Given the description of an element on the screen output the (x, y) to click on. 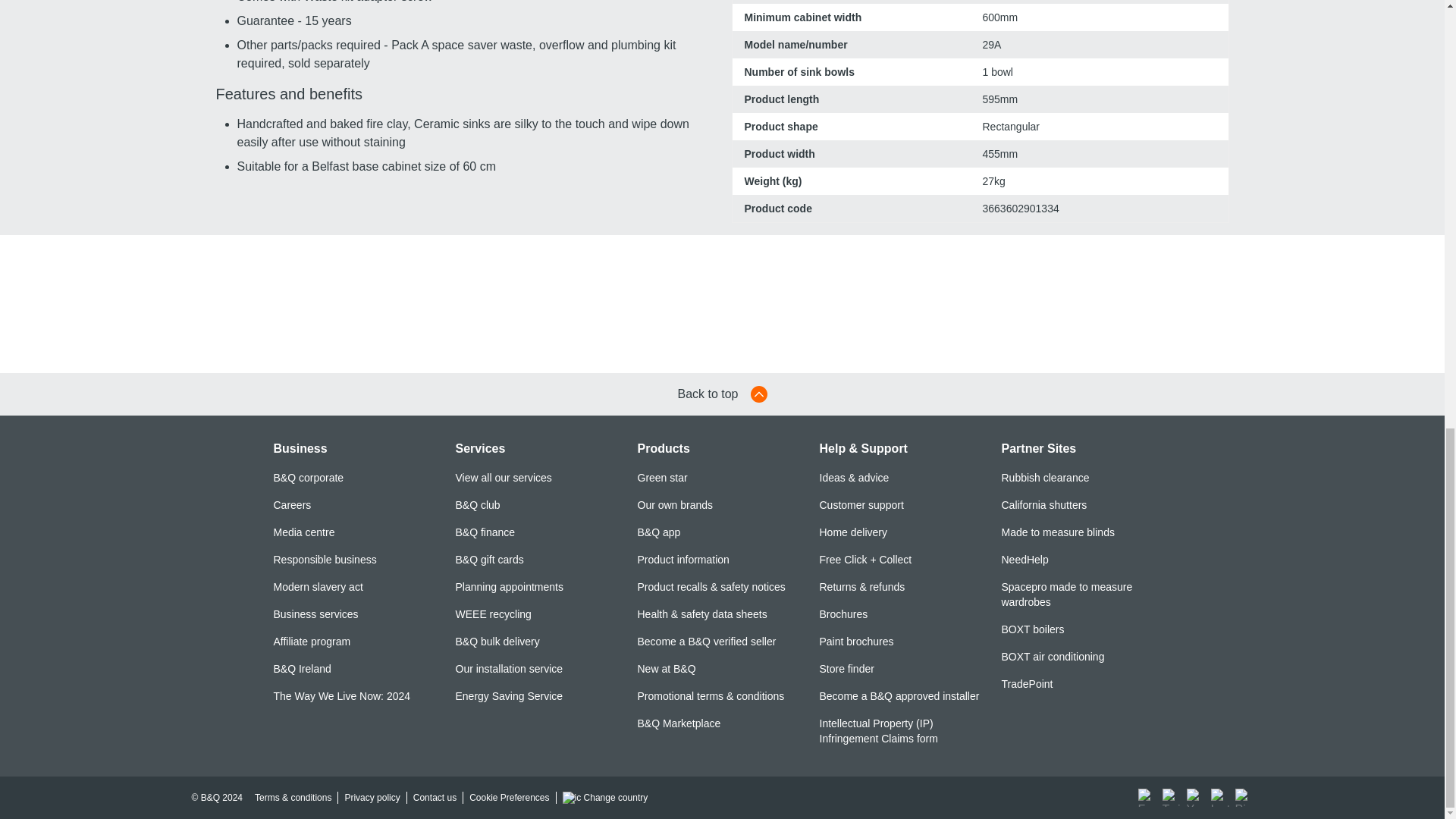
Pinterest (1243, 797)
icons.globe (571, 797)
Twitter (1170, 797)
Instagram (1218, 797)
Facebook (1146, 797)
YouTube (1195, 797)
